Given the description of an element on the screen output the (x, y) to click on. 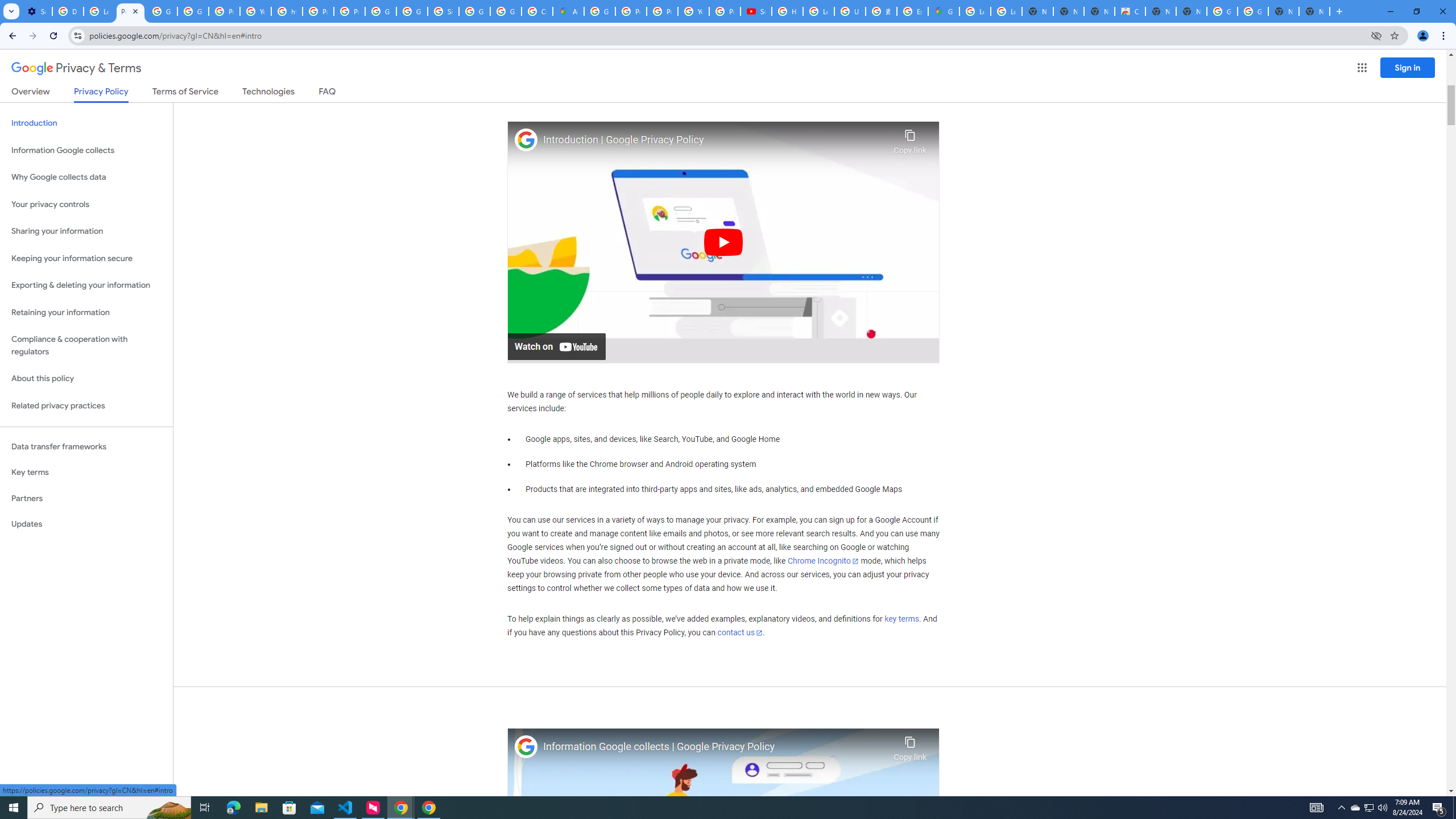
Privacy Policy (100, 94)
Sharing your information (86, 230)
Google Account Help (161, 11)
Learn how to find your photos - Google Photos Help (98, 11)
FAQ (327, 93)
Related privacy practices (86, 405)
Keeping your information secure (86, 258)
Sign in - Google Accounts (443, 11)
Why Google collects data (86, 176)
Close (135, 11)
Copy link (909, 745)
Your privacy controls (86, 204)
Chrome (1445, 35)
